Given the description of an element on the screen output the (x, y) to click on. 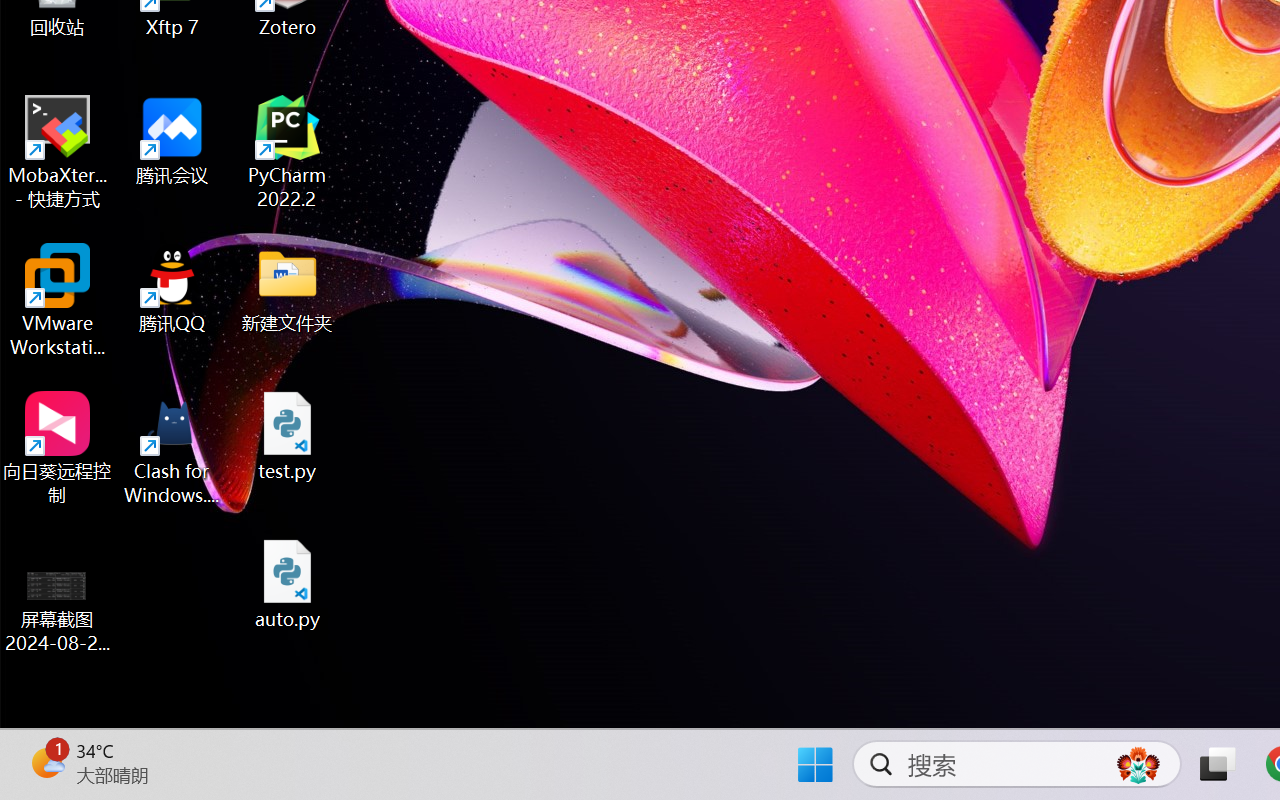
VMware Workstation Pro (57, 300)
